Given the description of an element on the screen output the (x, y) to click on. 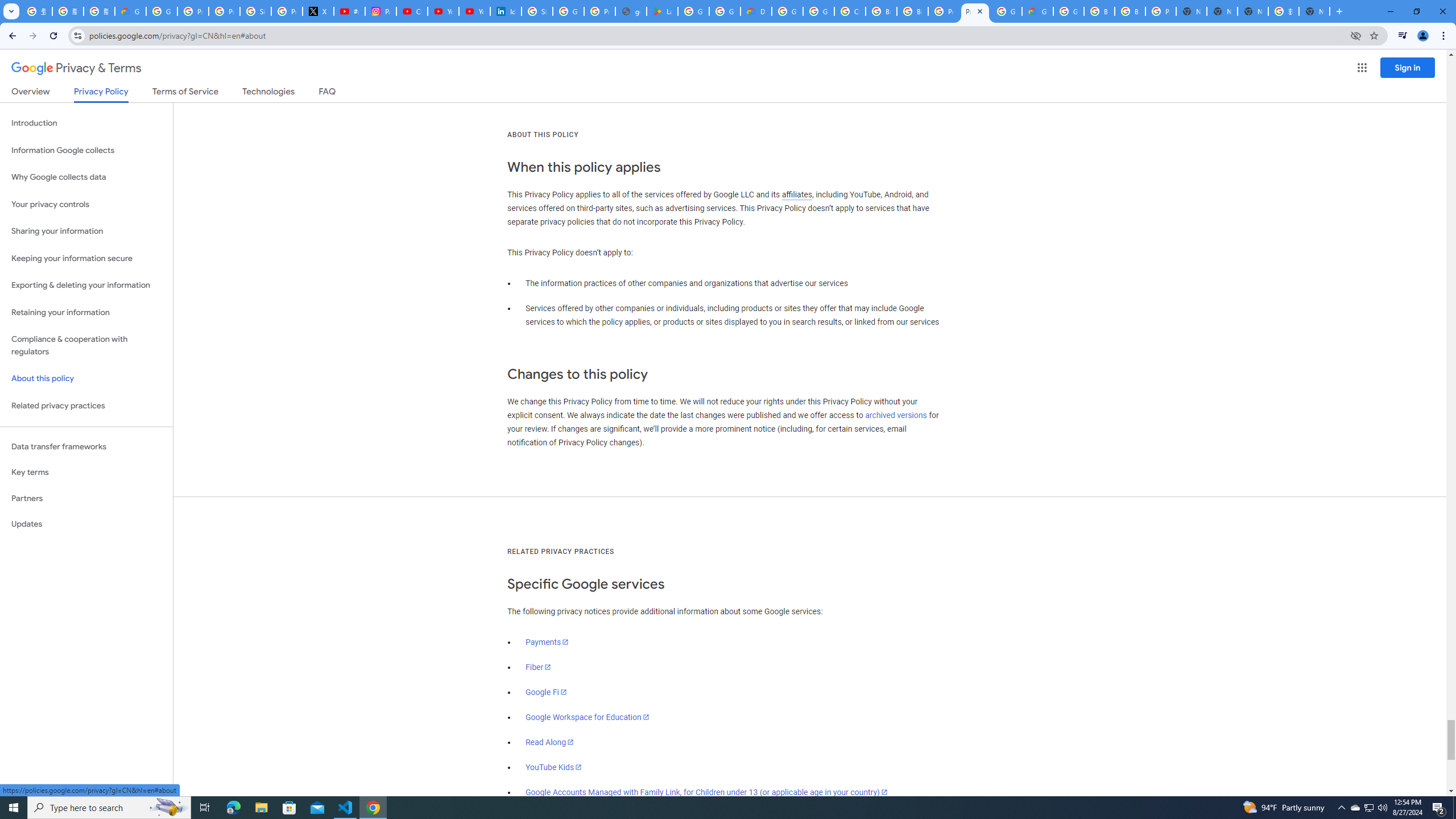
Google Workspace for Education (587, 716)
